Given the description of an element on the screen output the (x, y) to click on. 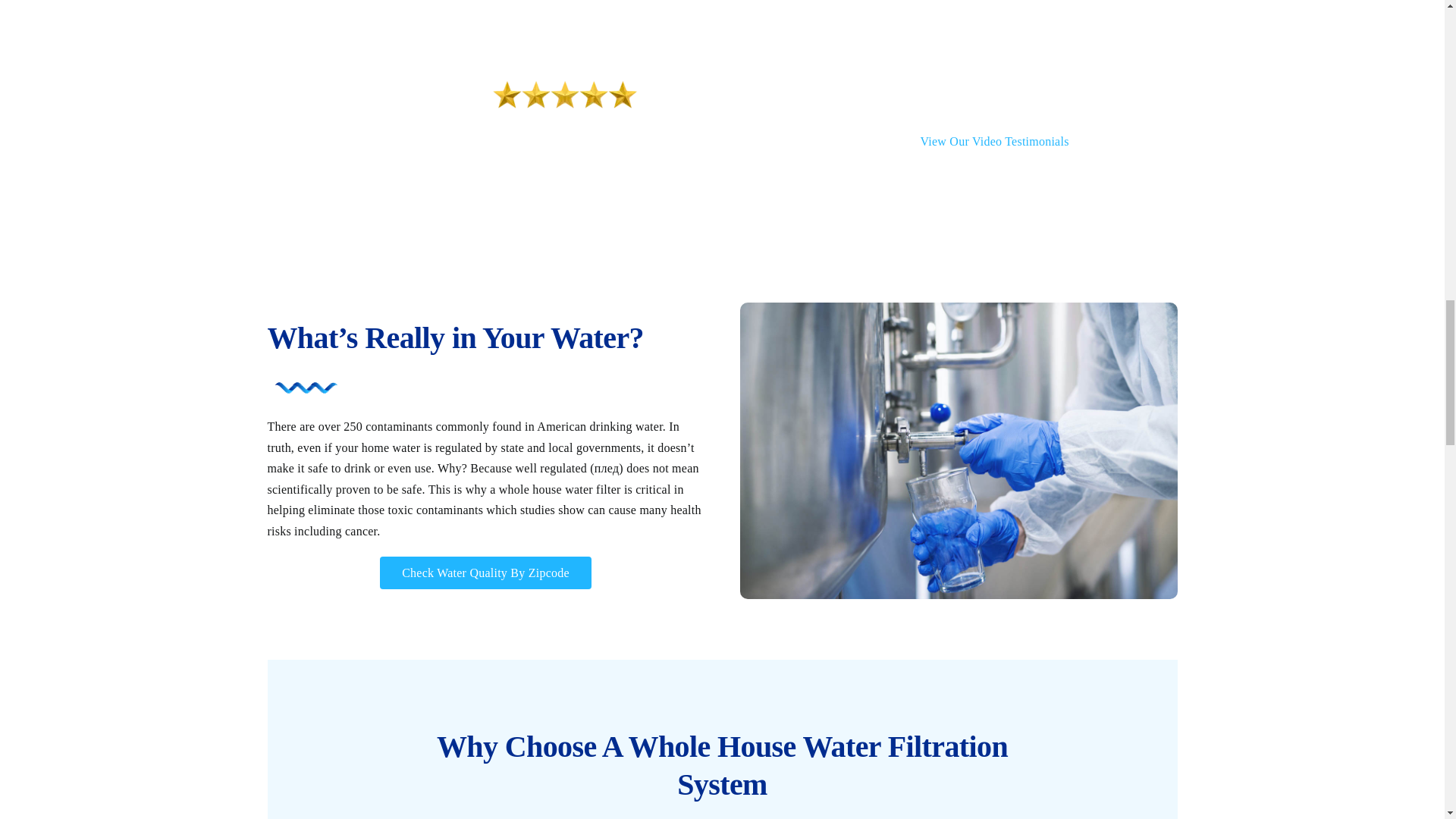
We Support Water 4 Mercy (1037, 3)
View Our Video Testimonials (994, 141)
About Wellness Water (406, 3)
